Given the description of an element on the screen output the (x, y) to click on. 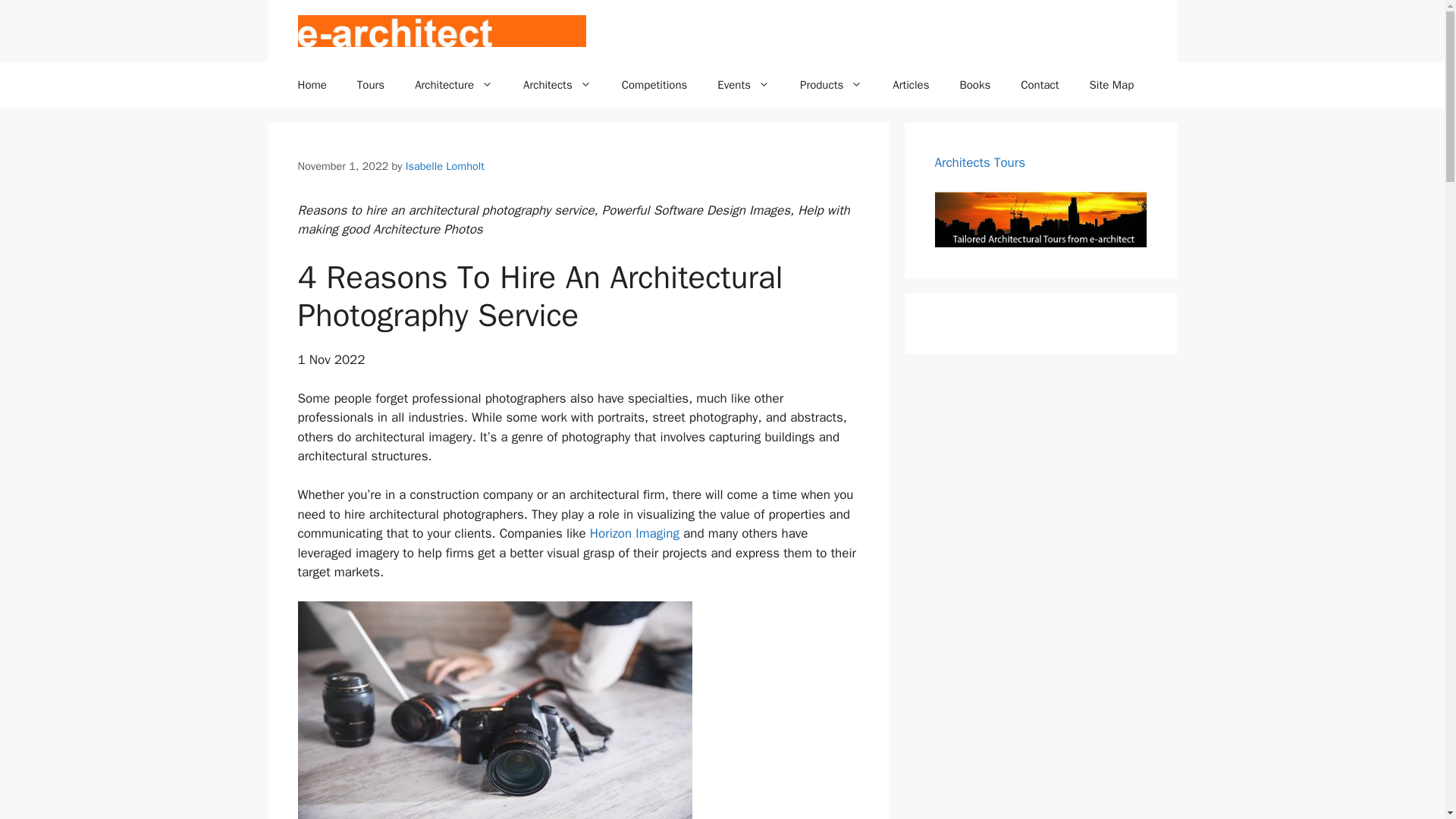
Horizon Imaging (634, 533)
Contact (1040, 84)
Architecture (453, 84)
Articles (910, 84)
Tours (370, 84)
Home (311, 84)
View all posts by Isabelle Lomholt (445, 165)
Products (830, 84)
Isabelle Lomholt (445, 165)
Events (742, 84)
Architects (557, 84)
Competitions (655, 84)
Books (974, 84)
Home (311, 84)
Site Map (1112, 84)
